Given the description of an element on the screen output the (x, y) to click on. 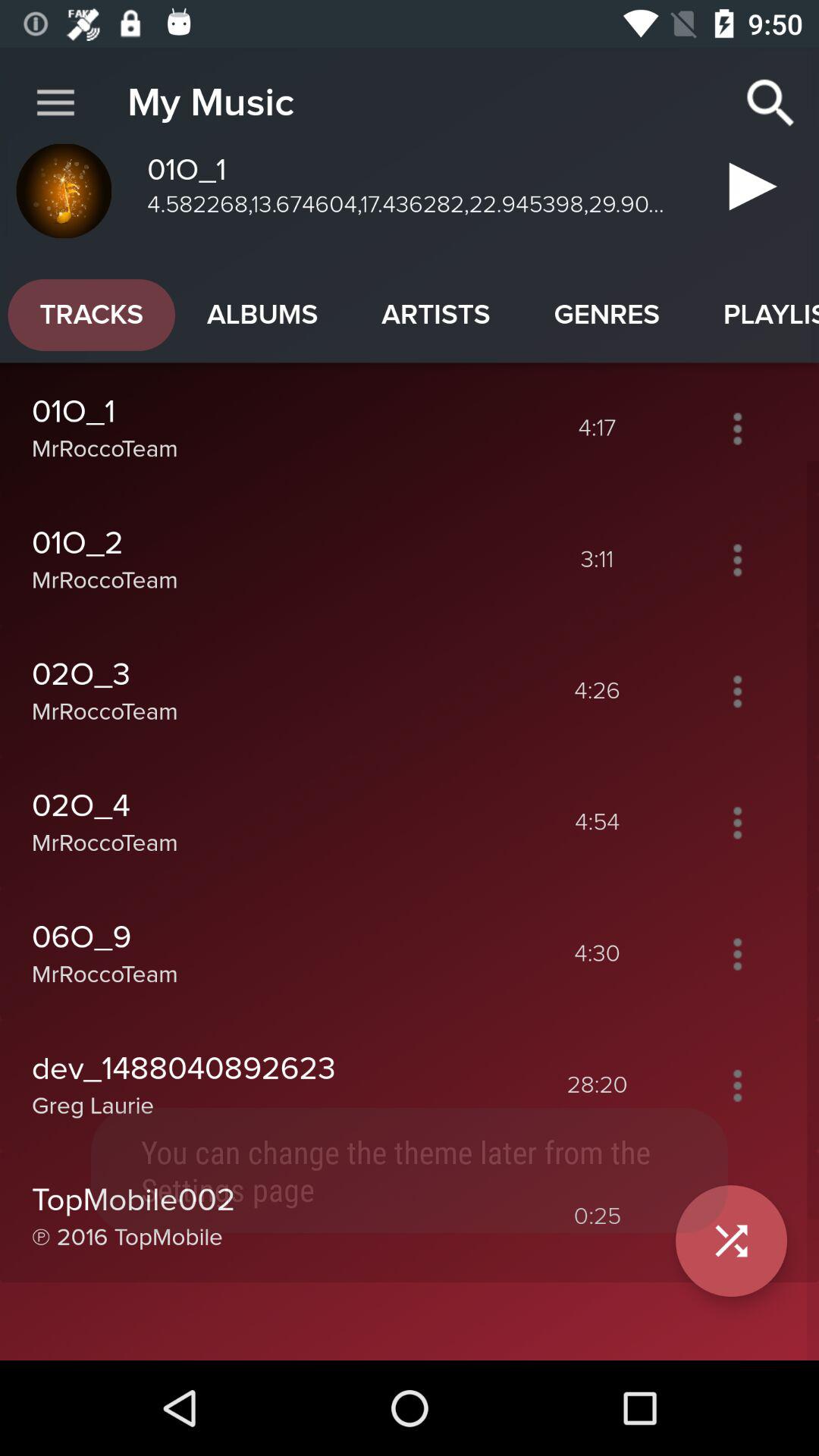
share add to favourites add to playlist play as next set as info song delete hide (737, 691)
